Given the description of an element on the screen output the (x, y) to click on. 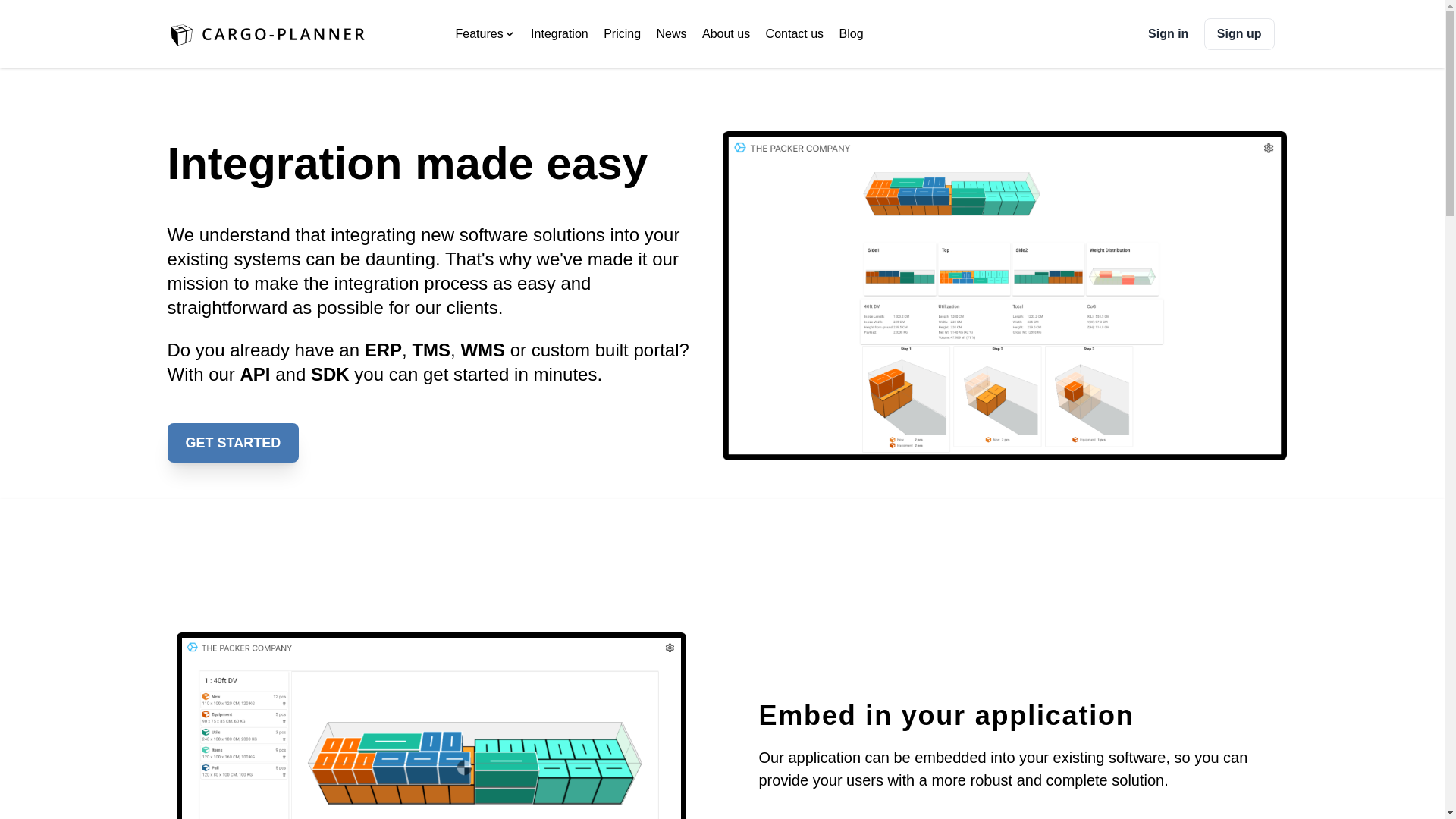
About us (725, 34)
News (671, 34)
GET STARTED (232, 442)
Sign in (1168, 34)
Blog (851, 34)
Pricing (622, 34)
Contact us (794, 34)
Sign up (1239, 33)
Integration (559, 34)
